Given the description of an element on the screen output the (x, y) to click on. 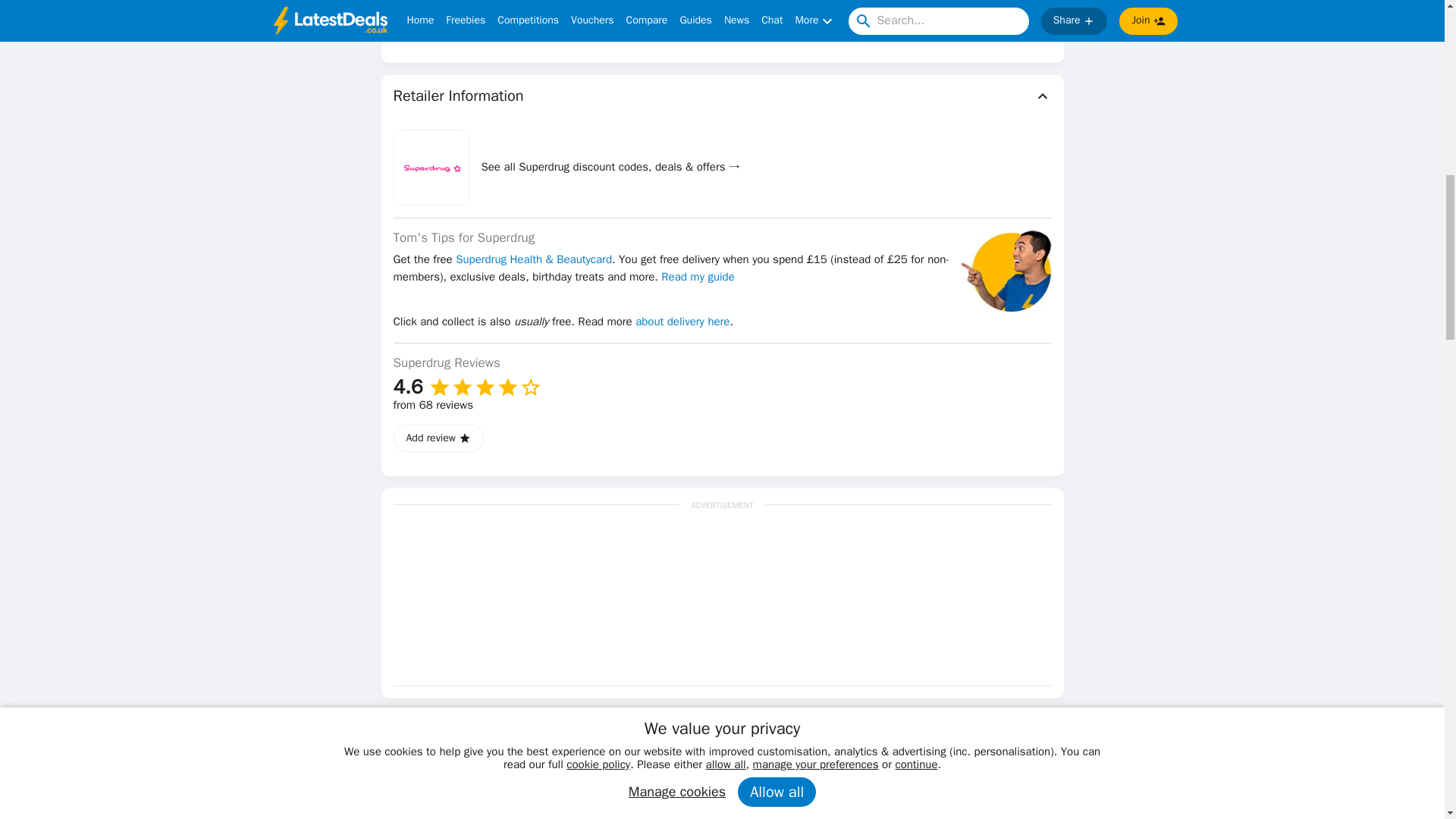
Retailer Information (722, 95)
